Given the description of an element on the screen output the (x, y) to click on. 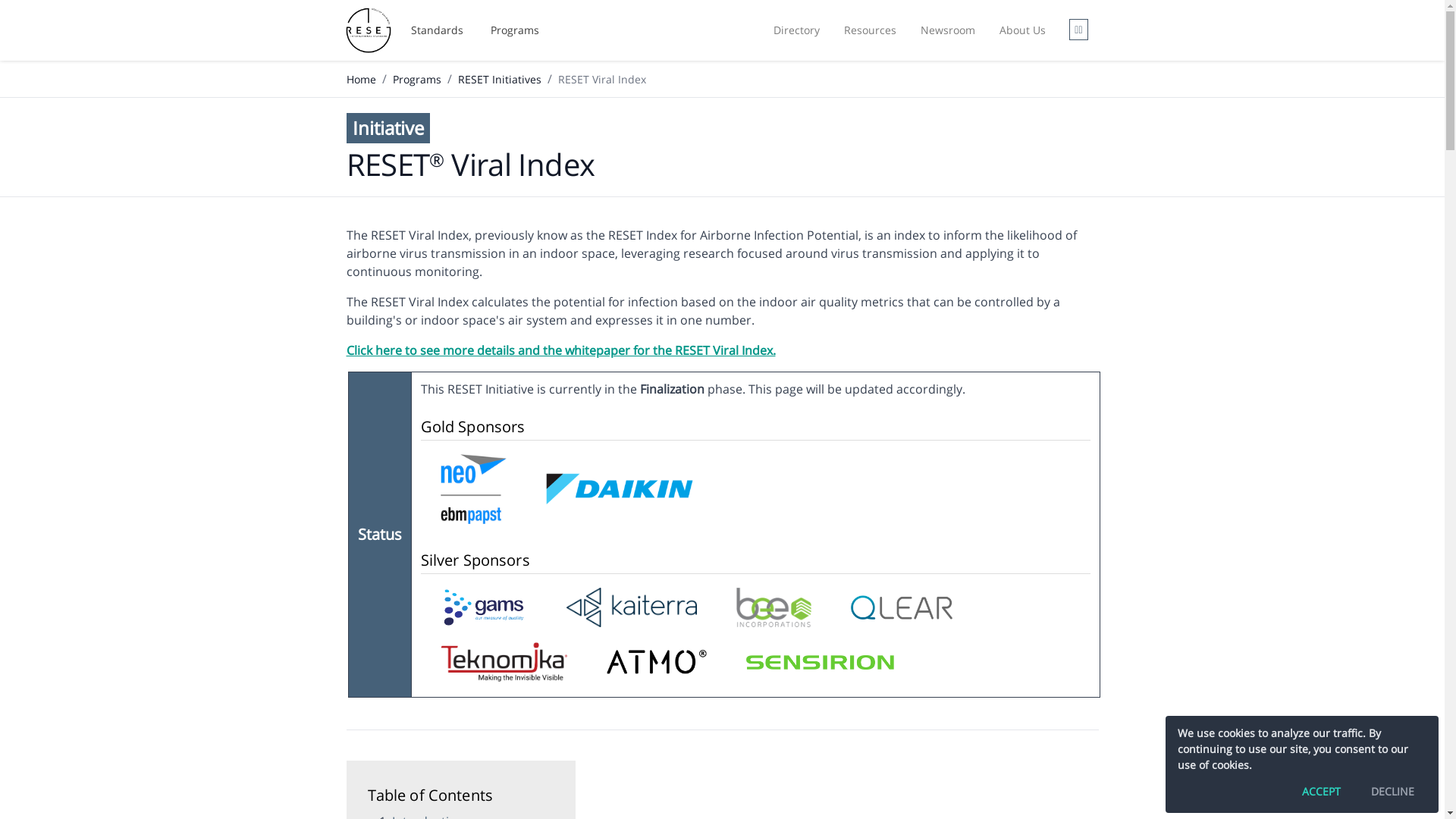
Standards Element type: text (436, 30)
Programs Element type: text (416, 79)
DECLINE Element type: text (1392, 790)
ACCEPT Element type: text (1320, 790)
Directory Element type: text (796, 30)
Programs Element type: text (514, 30)
Home Element type: text (360, 79)
RESET Initiatives Element type: text (499, 79)
About Us Element type: text (1022, 30)
Resources Element type: text (869, 30)
Newsroom Element type: text (947, 30)
